Given the description of an element on the screen output the (x, y) to click on. 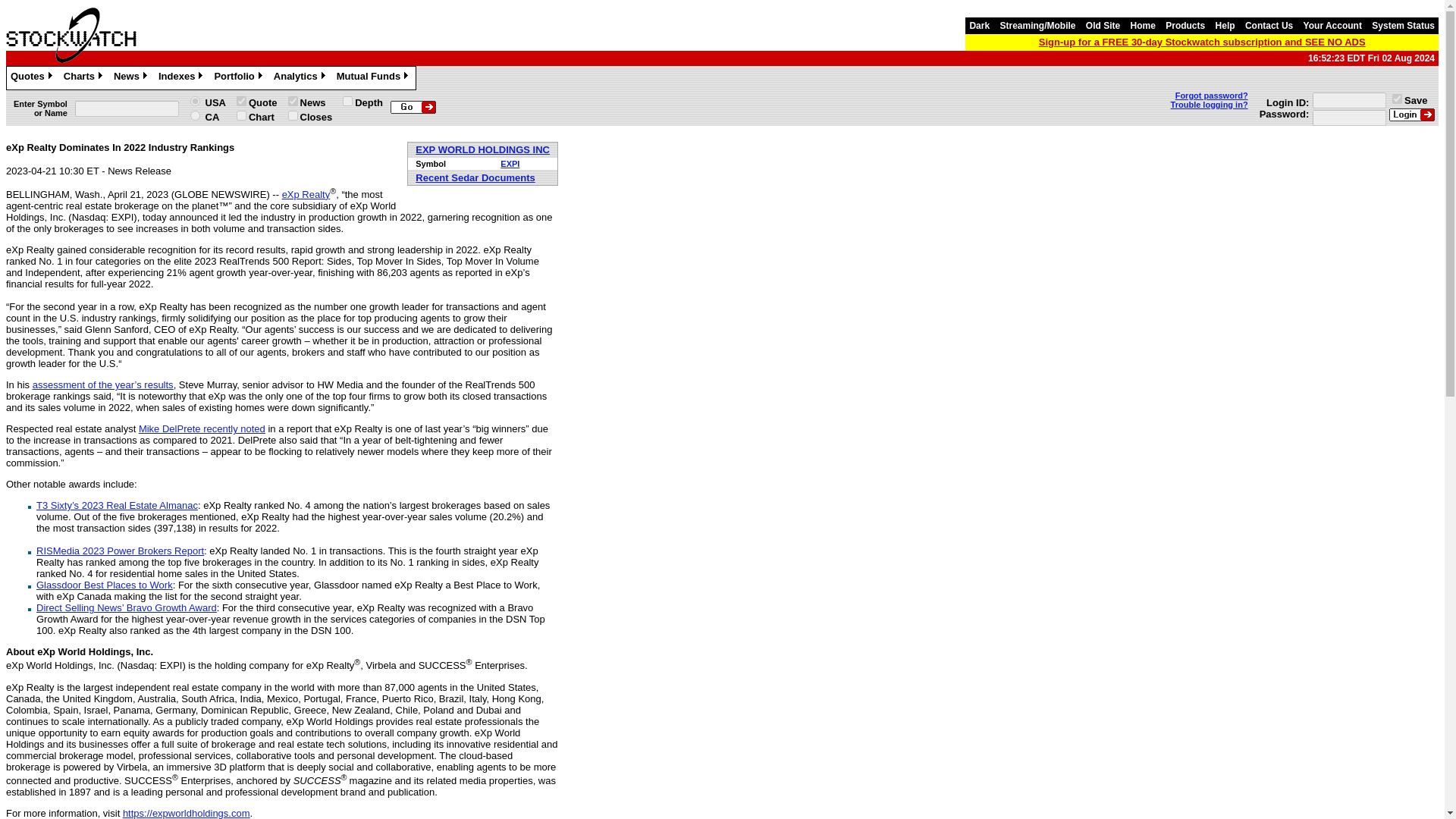
Help (1225, 25)
Dark (978, 25)
on (293, 115)
on (240, 115)
on (240, 101)
on (1396, 99)
Old Site (1102, 25)
Your Account (1332, 25)
Home (1142, 25)
RadioUS2 (195, 101)
on (293, 101)
Contact Us (1269, 25)
Products (1184, 25)
on (347, 101)
